Given the description of an element on the screen output the (x, y) to click on. 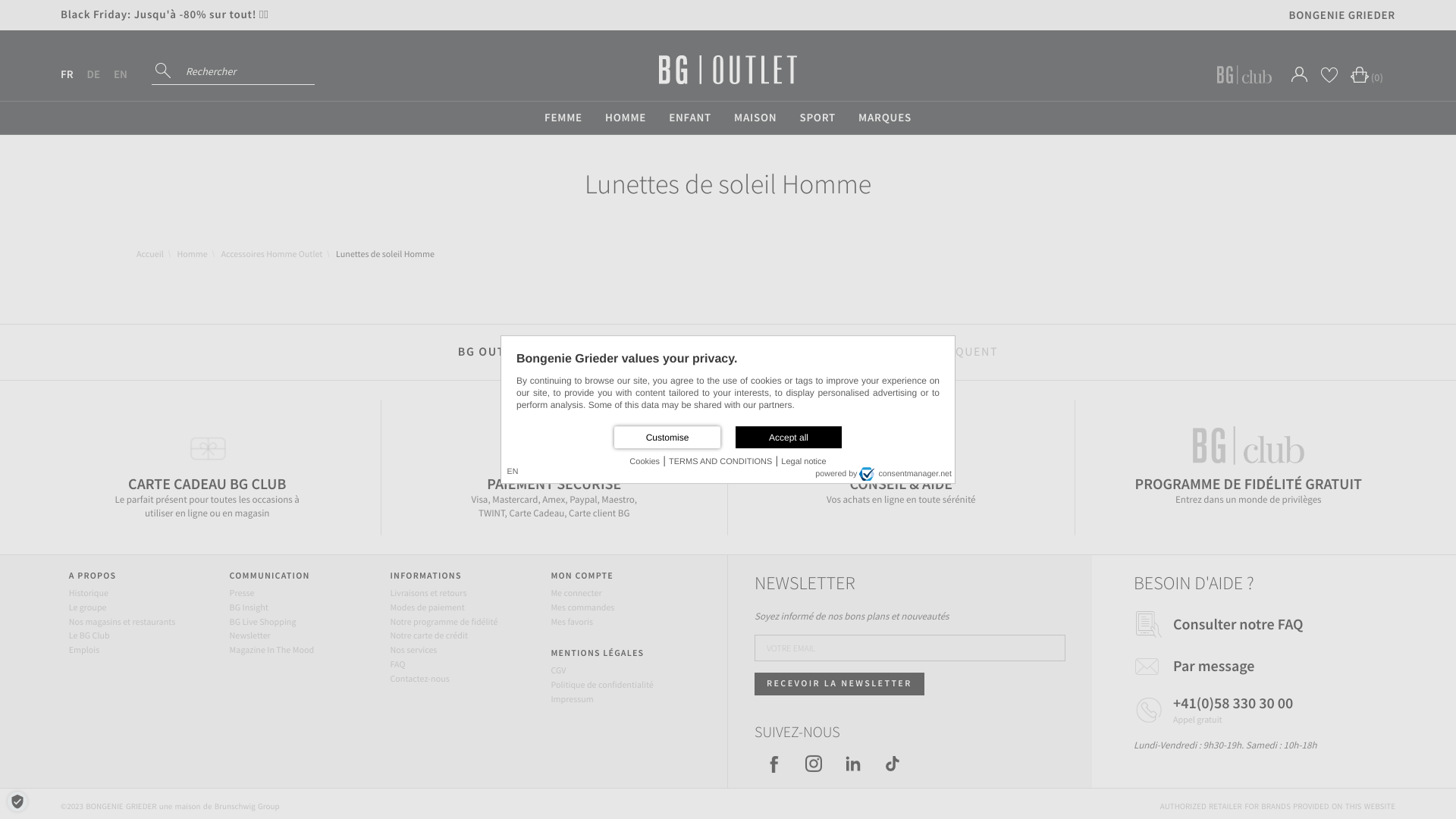
Emplois Element type: text (84, 649)
FEMME Element type: text (563, 117)
Presse Element type: text (241, 593)
ENFANT Element type: text (689, 117)
Privacy settings Element type: hover (17, 801)
Customise Element type: text (667, 437)
Modes de paiement Element type: text (426, 607)
(0) Element type: text (1362, 74)
FR Element type: text (66, 74)
BG Insight Element type: text (248, 607)
Legal notice Element type: text (803, 461)
Consulter notre FAQ Element type: text (1238, 624)
Livraisons et retours Element type: text (427, 593)
Mes commandes Element type: text (582, 607)
+41(0)58 330 30 00 Element type: text (1232, 702)
icone-instagram Element type: text (813, 763)
EN Element type: text (120, 74)
Nos magasins et restaurants Element type: text (122, 621)
MAISON Element type: text (754, 117)
CGV Element type: text (557, 670)
Impressum Element type: text (571, 699)
Contactez-nous Element type: text (418, 678)
Nos services Element type: text (412, 649)
Par message Element type: text (1213, 665)
RECEVOIR LA NEWSLETTER Element type: text (839, 683)
Accessoires Homme Outlet Element type: text (271, 254)
Homme Element type: text (191, 254)
Rechercher Element type: text (164, 70)
MARQUES Element type: text (884, 117)
Mes favoris Element type: text (571, 621)
Mon compte Element type: hover (1298, 74)
Historique Element type: text (88, 593)
Cookies Element type: text (644, 461)
SPORT Element type: text (817, 117)
Accueil Element type: text (149, 254)
FAQ Element type: text (396, 664)
Mes Favoris Element type: hover (1329, 74)
icone-facebook Element type: text (774, 763)
HOMME Element type: text (625, 117)
Newsletter Element type: text (249, 635)
BG Live Shopping Element type: text (262, 621)
Me connecter Element type: text (575, 593)
Accept all Element type: text (788, 437)
Le BG Club Element type: text (89, 635)
consentmanager.net Element type: text (905, 473)
Le groupe Element type: text (87, 607)
TERMS AND CONDITIONS Element type: text (719, 461)
DE Element type: text (93, 74)
Magazine In The Mood Element type: text (271, 649)
BONGENIE GRIEDER Element type: text (1342, 14)
